Given the description of an element on the screen output the (x, y) to click on. 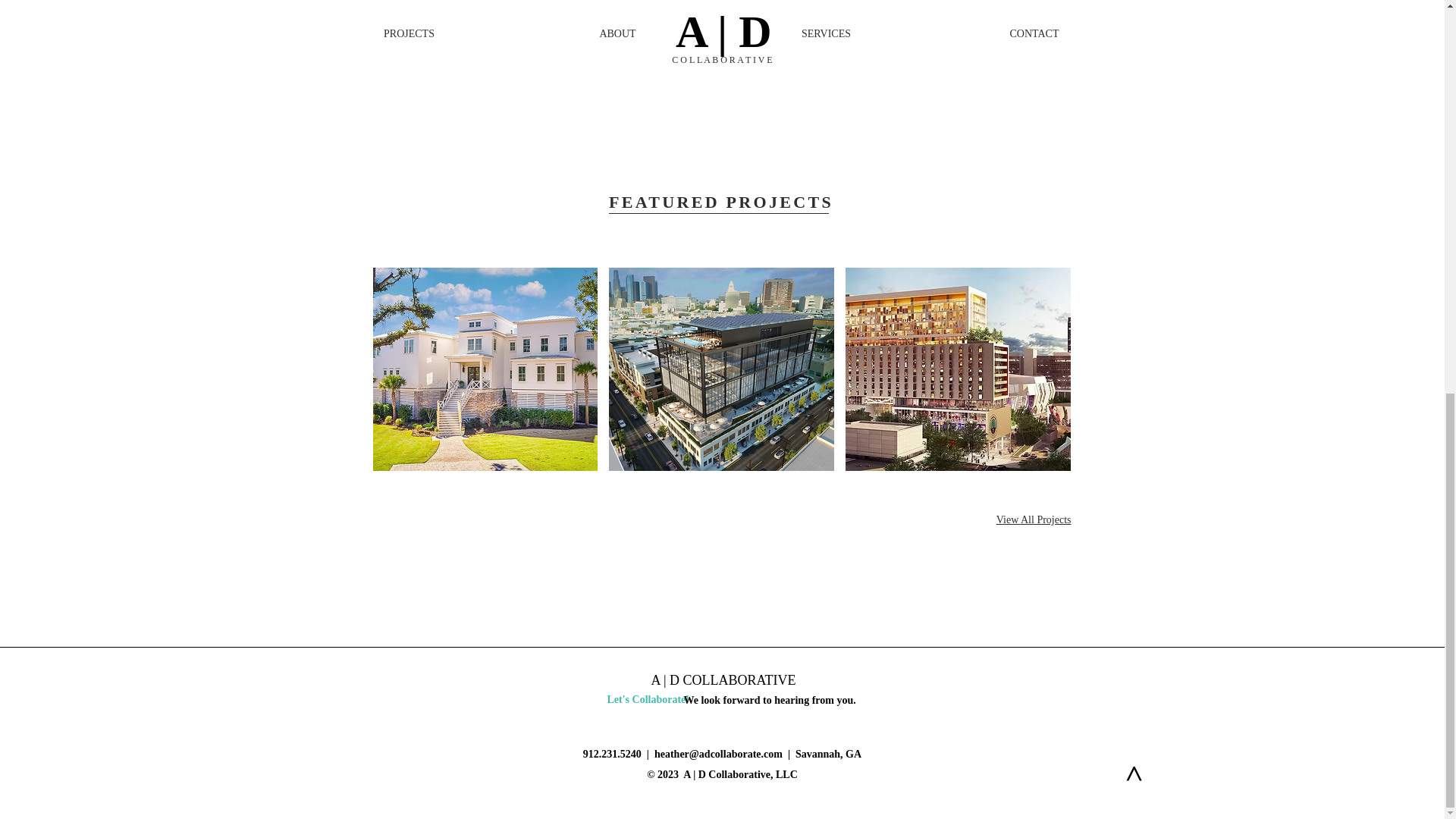
Let's Collaborate! (652, 699)
View All Projects (1033, 519)
Services (683, 0)
